Given the description of an element on the screen output the (x, y) to click on. 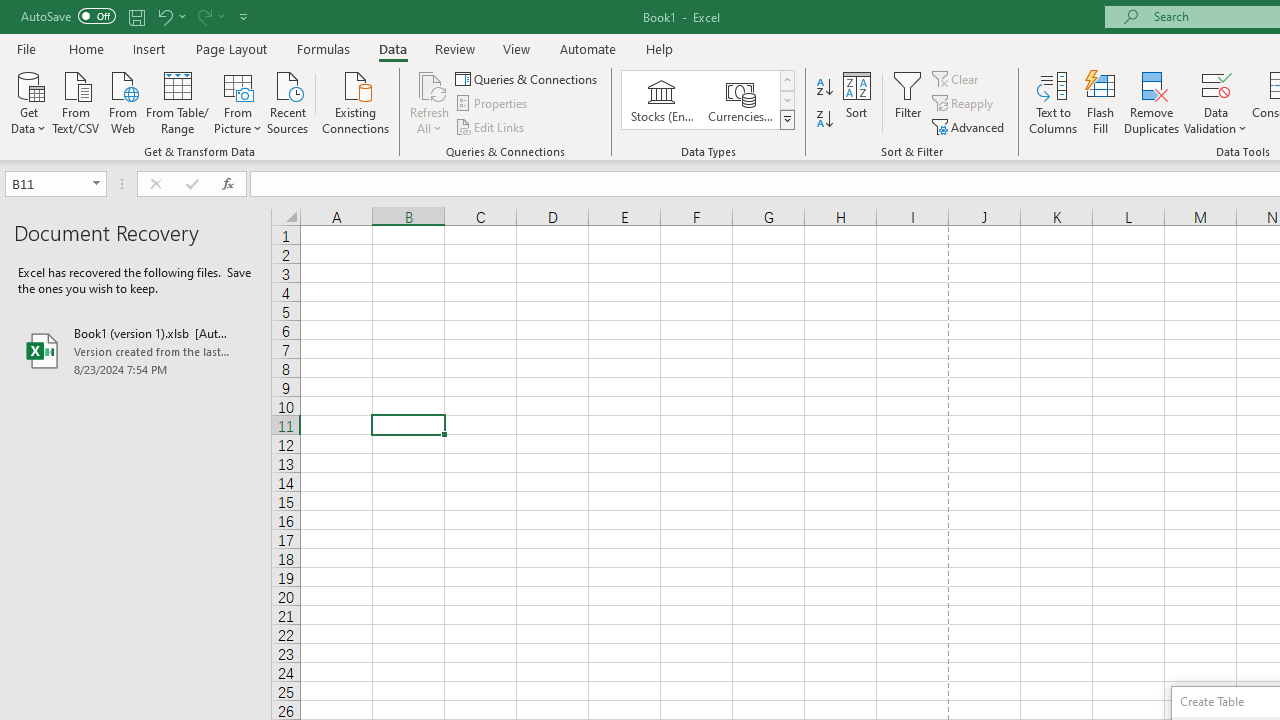
From Text/CSV (75, 101)
Edit Links (491, 126)
File Tab (26, 48)
Class: NetUIImage (787, 119)
Row Down (786, 100)
AutoSave (68, 16)
Stocks (English) (662, 100)
Home (86, 48)
Help (660, 48)
Save (136, 15)
Automate (588, 48)
